Given the description of an element on the screen output the (x, y) to click on. 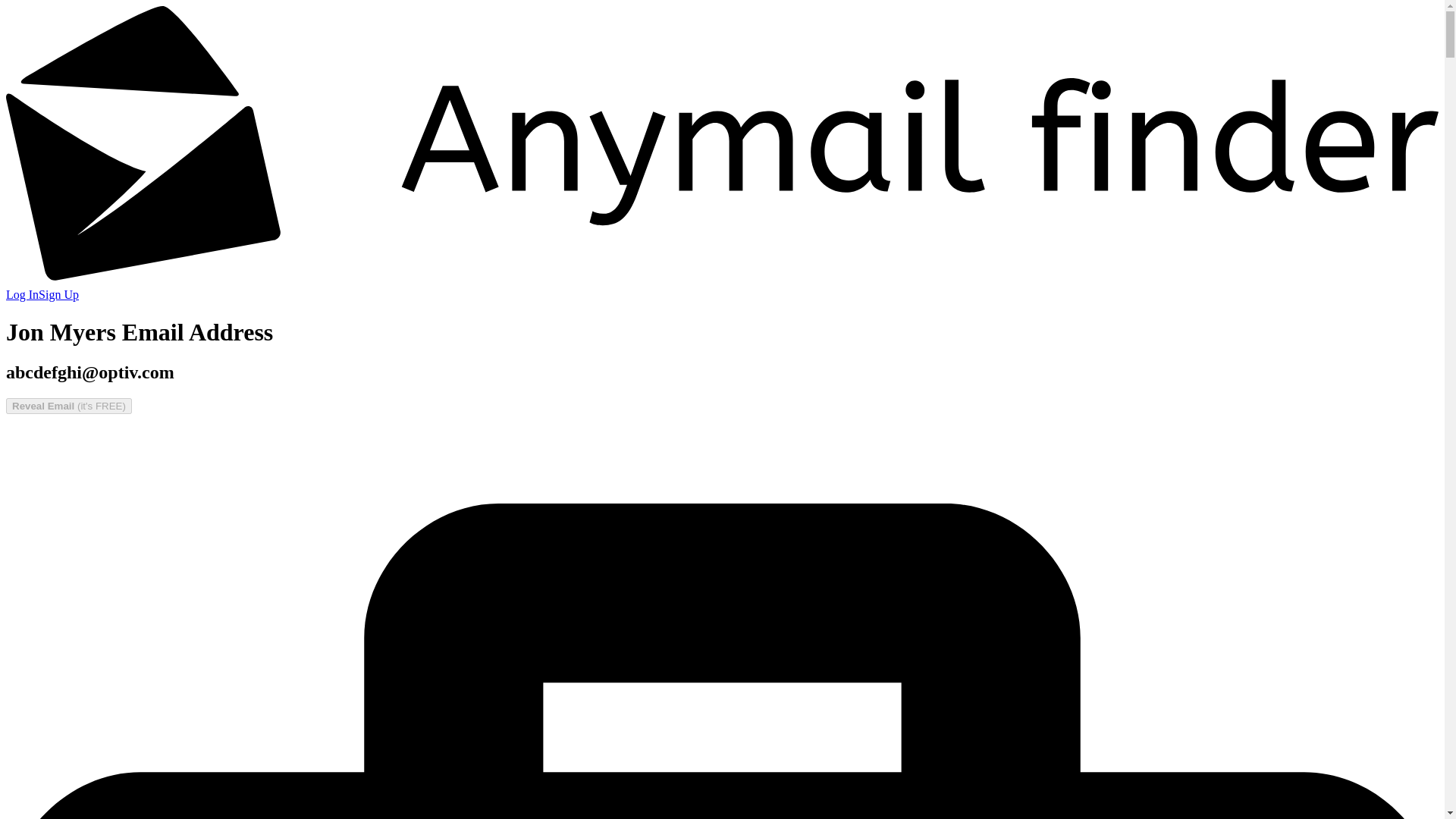
Sign Up (58, 294)
Log In (22, 294)
